Given the description of an element on the screen output the (x, y) to click on. 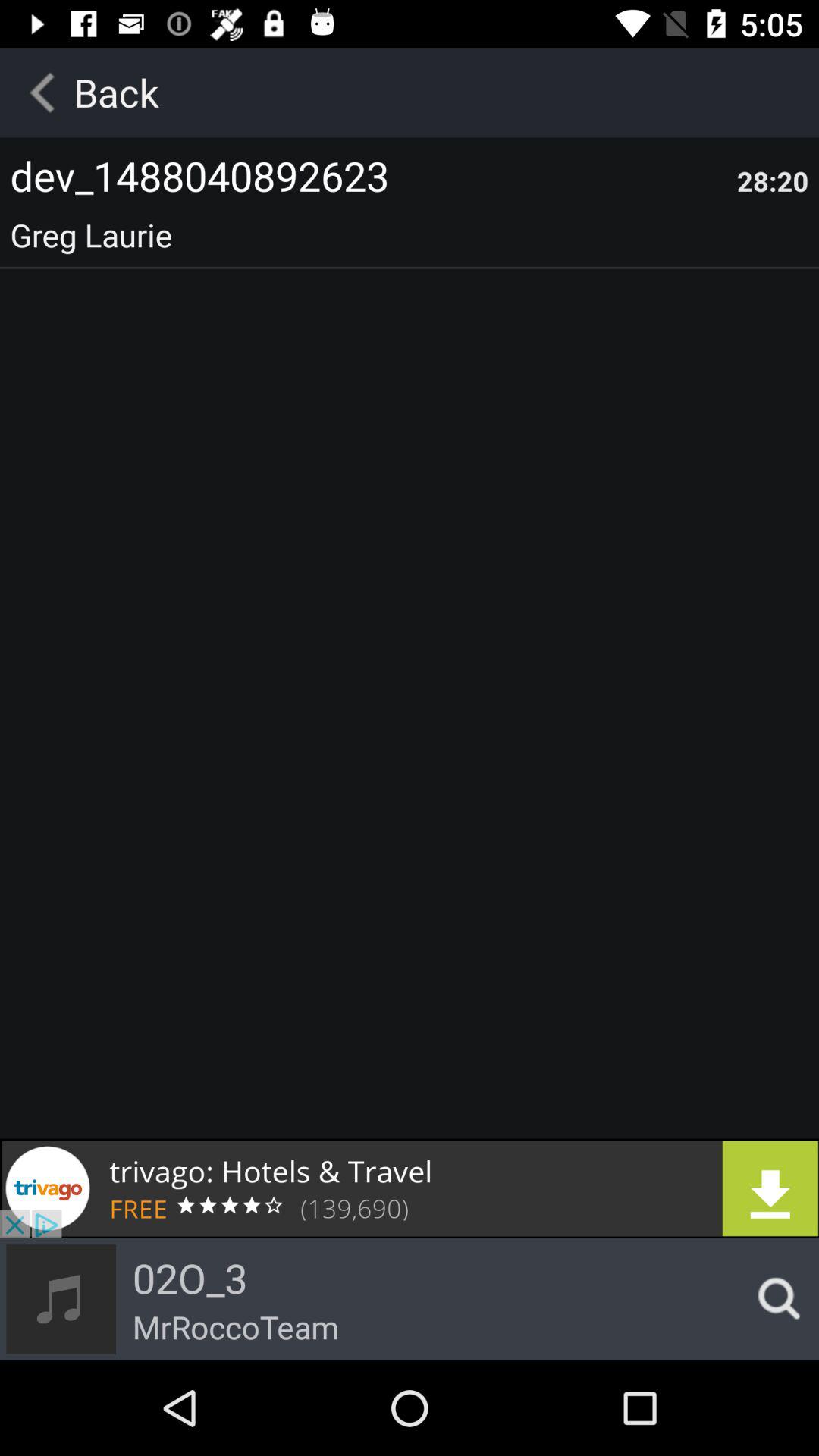
view advertisement (409, 1188)
